Given the description of an element on the screen output the (x, y) to click on. 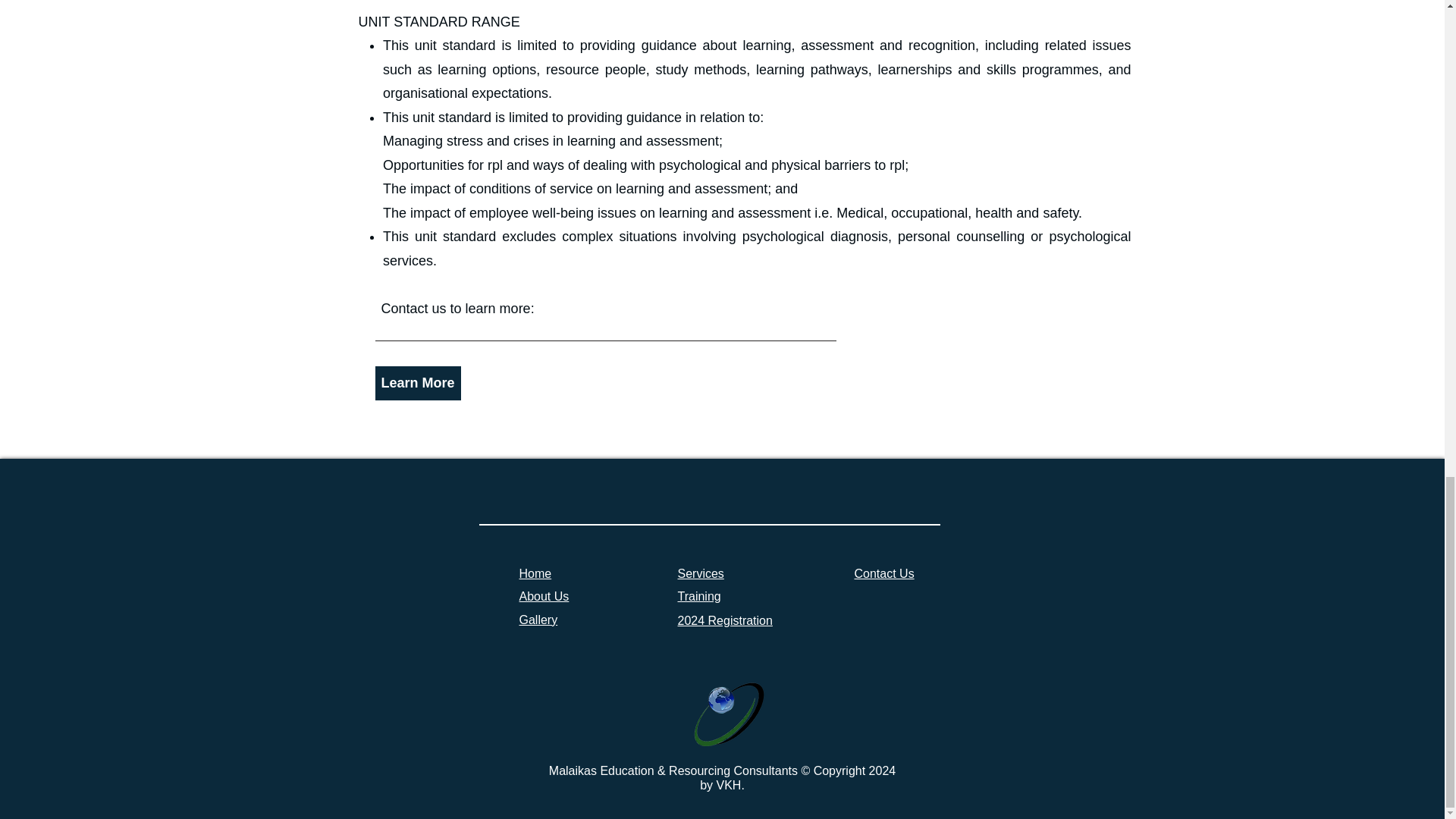
MERC NEW LOGO.JPG (721, 712)
Gallery (537, 619)
Services (700, 573)
Learn More (417, 383)
Contact Us (883, 573)
Training (699, 595)
Home (534, 573)
About Us (543, 595)
2024 Registration (725, 620)
